Given the description of an element on the screen output the (x, y) to click on. 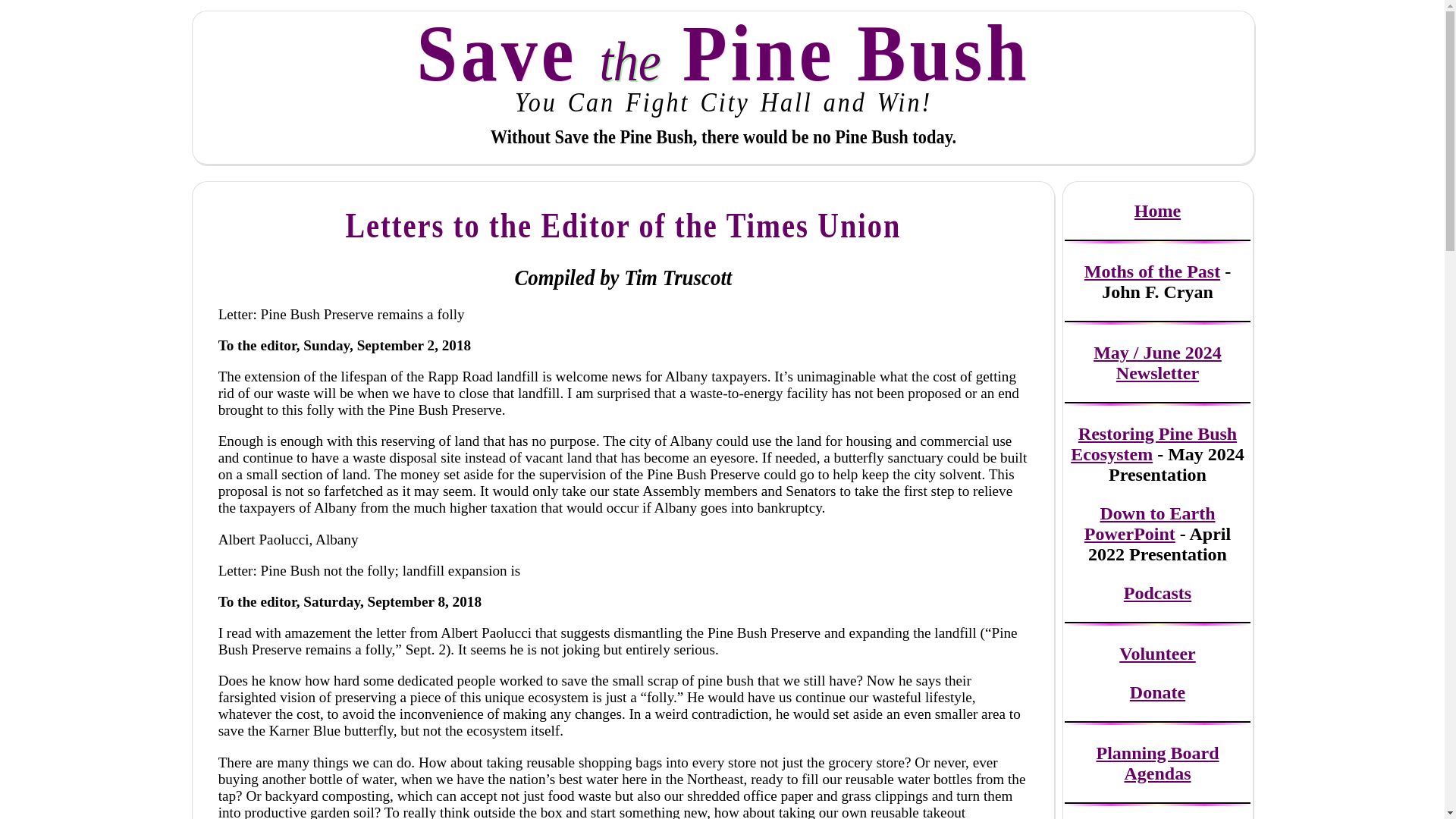
Restoring Pine Bush Ecosystem (1153, 444)
Search (21, 7)
Moths of the Past (1152, 271)
Donate (1157, 691)
Podcasts (1157, 592)
Letters to the Editor of the Times Union (623, 221)
Save the Pine Bush (722, 49)
Planning Board Agendas (1157, 762)
Down to Earth PowerPoint (1149, 523)
Letters to the Editor of the Times Union (623, 221)
